Given the description of an element on the screen output the (x, y) to click on. 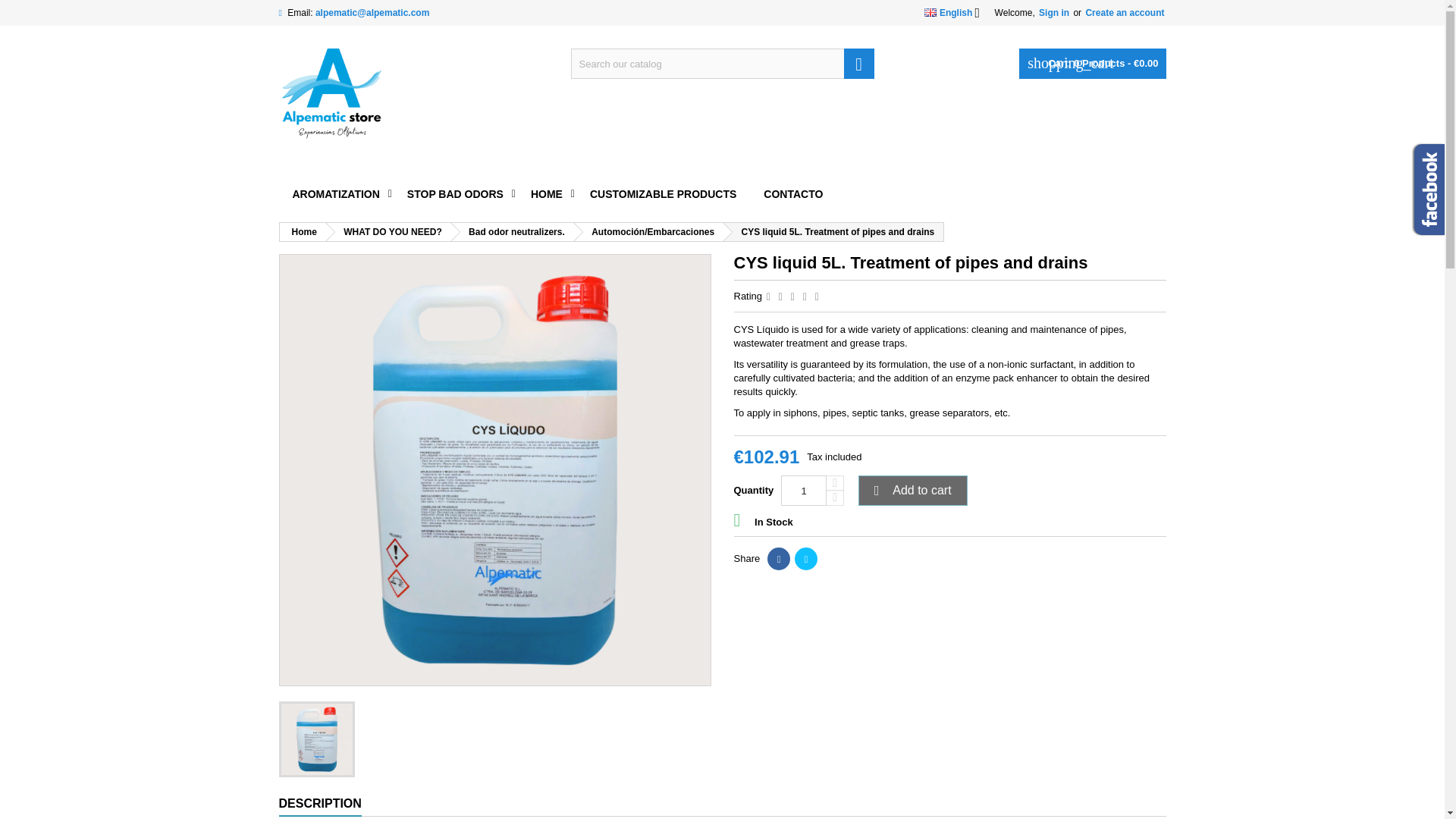
AROMATIZATION (336, 193)
Share (778, 558)
1 (803, 490)
Sign in (1053, 12)
Create an account (1124, 12)
Tweet (805, 558)
Log in to your customer account (1053, 12)
Log in to your customer account (1124, 12)
STOP BAD ODORS (454, 193)
